Given the description of an element on the screen output the (x, y) to click on. 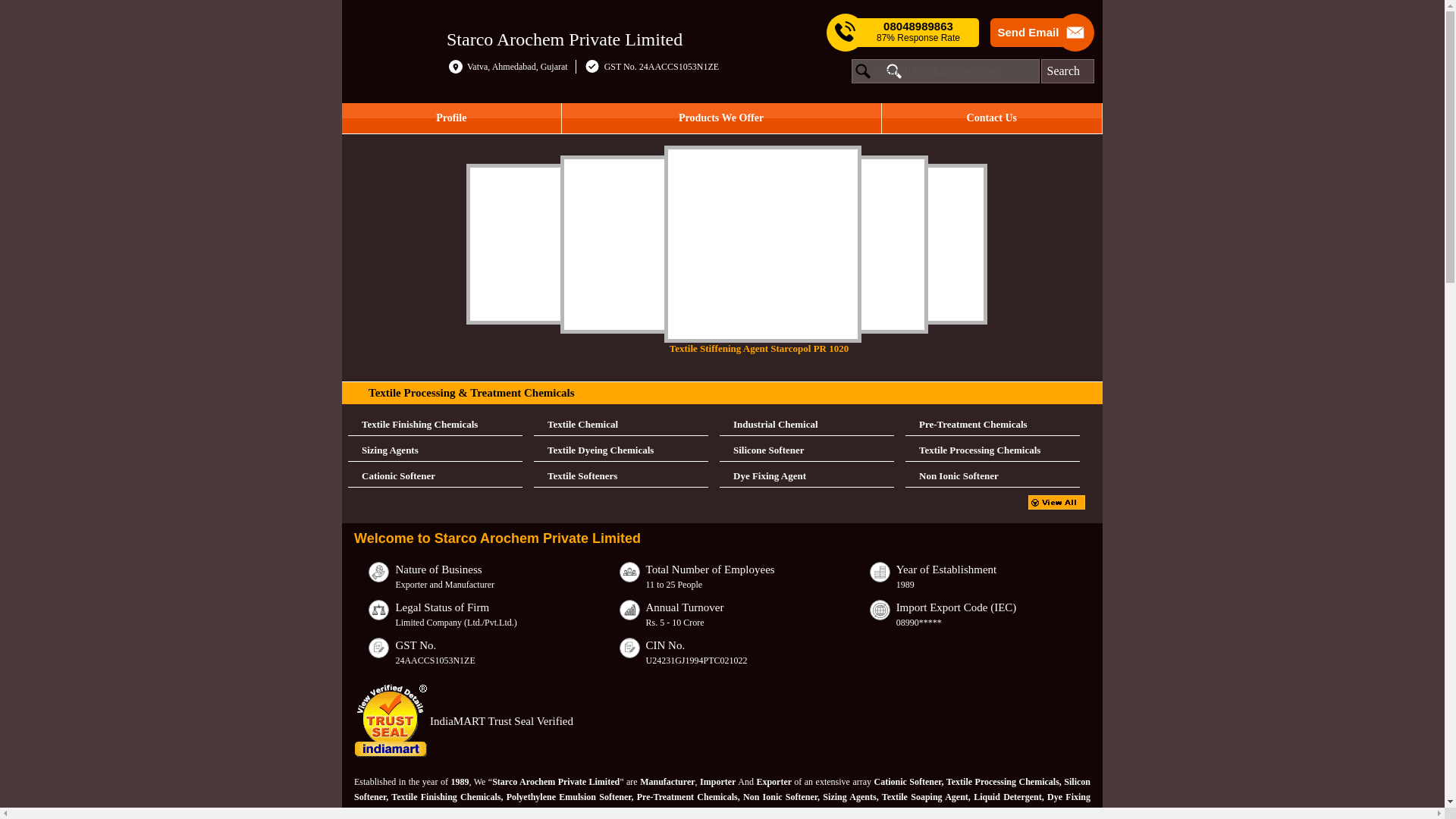
Silicone Softener (806, 450)
Non Ionic Softener (992, 476)
Sizing Agents (434, 450)
Textile Dyeing Chemicals (620, 450)
Textile Stiffening Agent Starcopol PR 1020 (769, 249)
Dye Fixing Agent (806, 476)
Send SMS Free (917, 32)
Textile Chemical (620, 424)
Cationic Softener (434, 476)
Textile Processing Chemicals (992, 450)
